Given the description of an element on the screen output the (x, y) to click on. 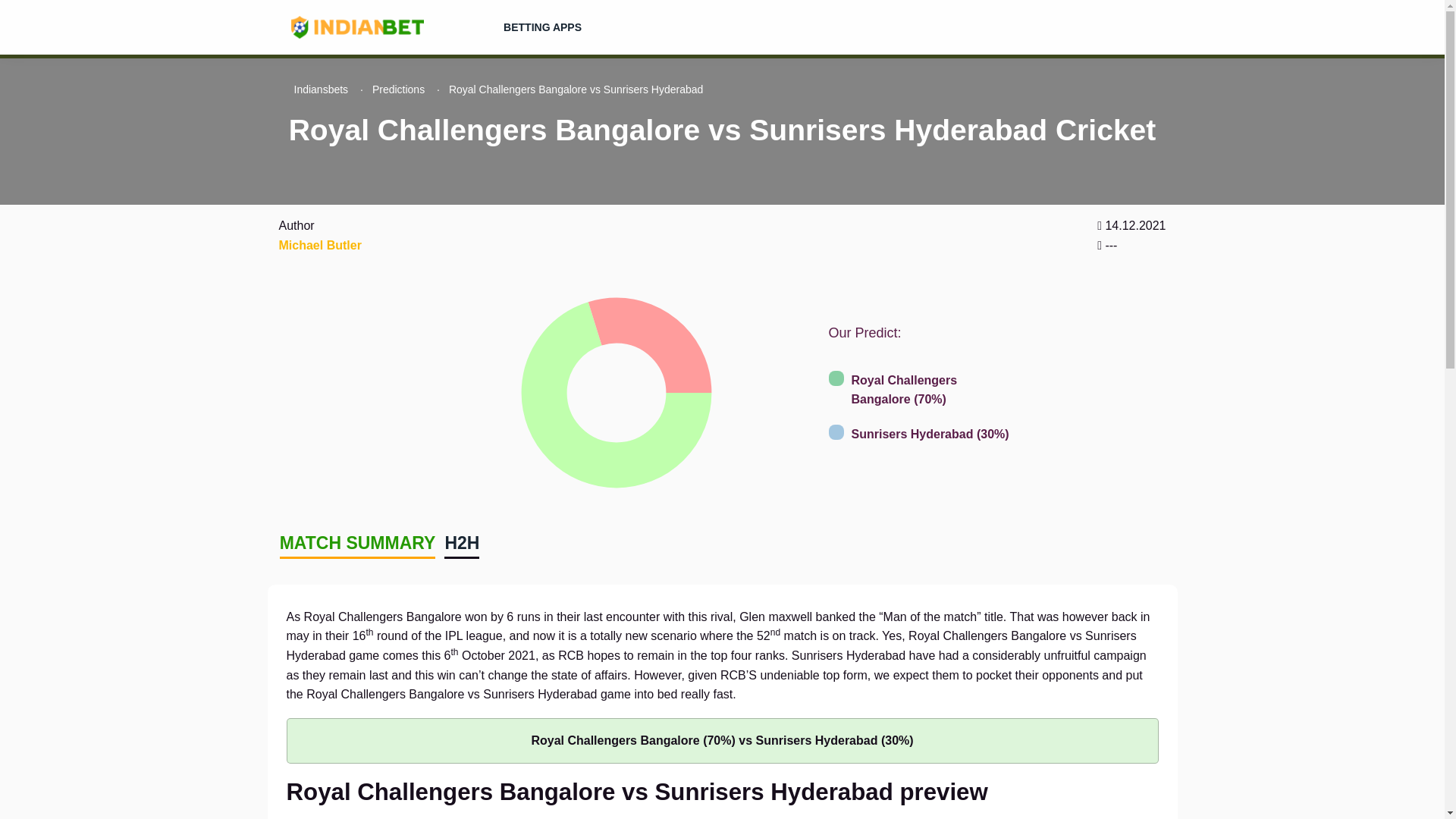
Predictions (398, 89)
BETTING APPS (542, 27)
MATCH SUMMARY (357, 542)
H2H (461, 542)
Indiansbets (321, 89)
